Given the description of an element on the screen output the (x, y) to click on. 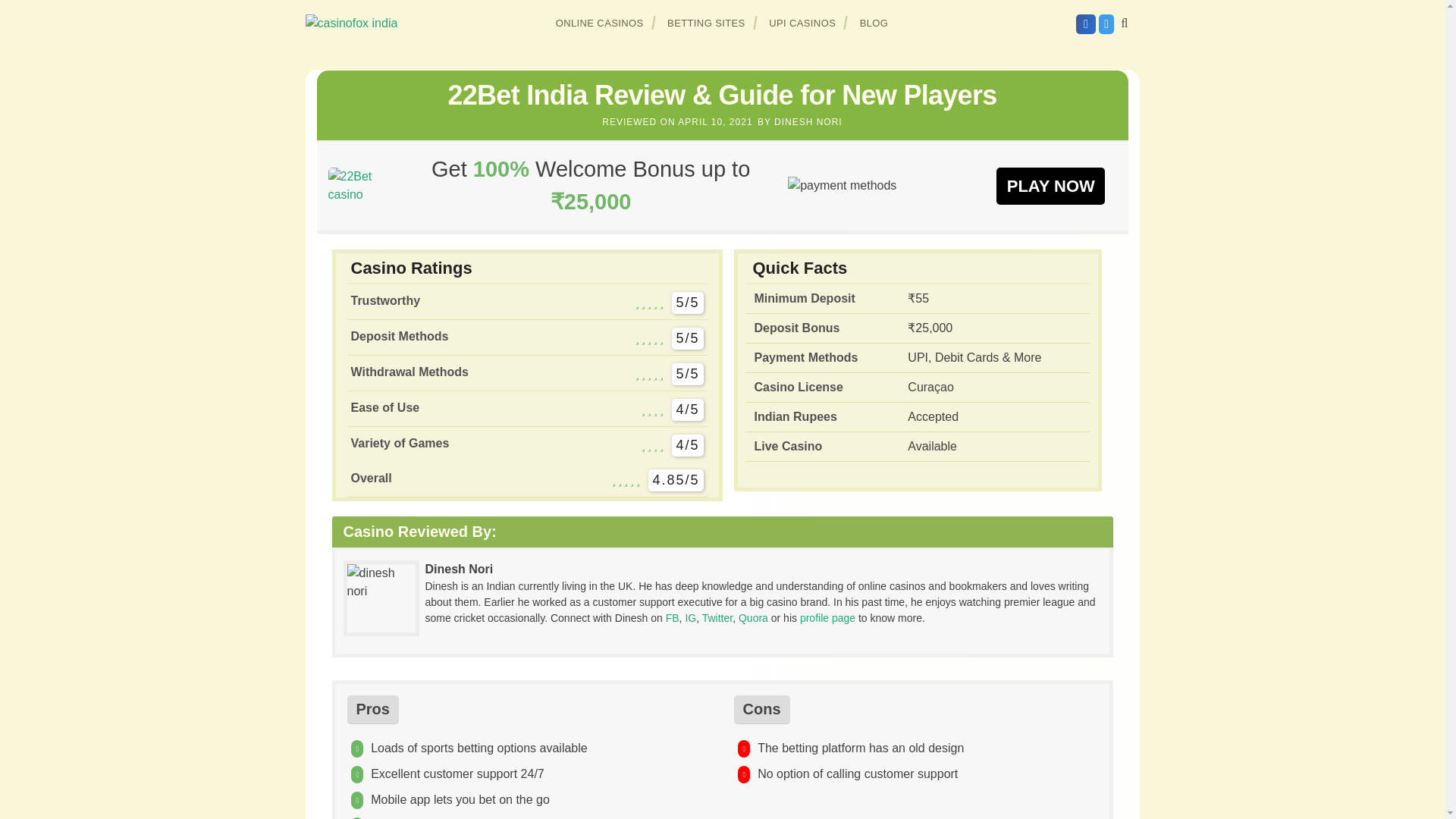
UPI CASINOS (801, 23)
22Bet (360, 185)
PLAY NOW (1050, 185)
FB (672, 617)
Quora (753, 617)
BETTING SITES (706, 23)
ONLINE CASINOS (599, 23)
IG (689, 617)
profile page (827, 617)
BLOG (874, 23)
